Given the description of an element on the screen output the (x, y) to click on. 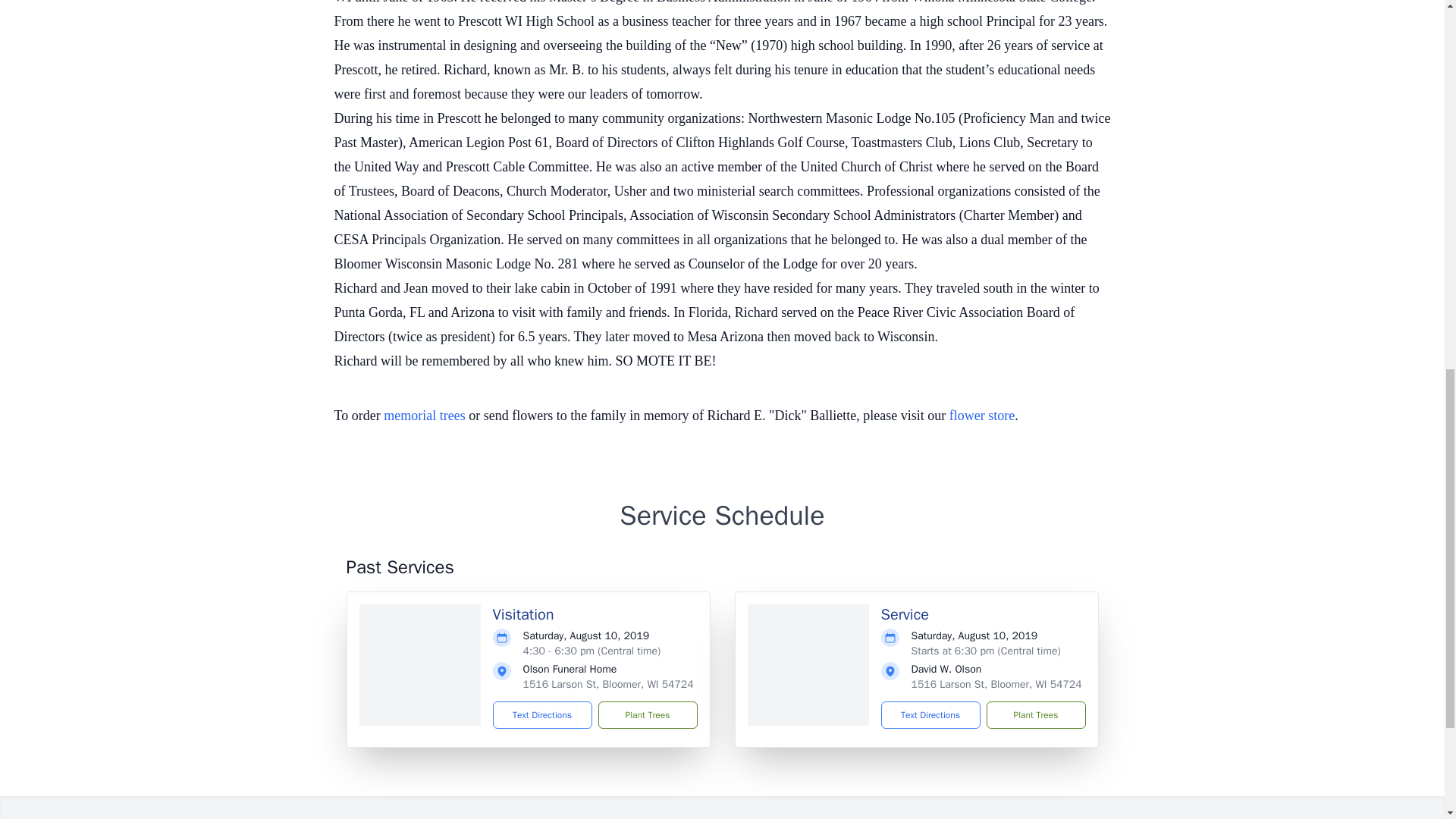
Plant Trees (646, 714)
Text Directions (929, 714)
1516 Larson St, Bloomer, WI 54724 (996, 684)
flower store (981, 415)
memorial trees (424, 415)
Plant Trees (1034, 714)
1516 Larson St, Bloomer, WI 54724 (608, 684)
Text Directions (542, 714)
